Given the description of an element on the screen output the (x, y) to click on. 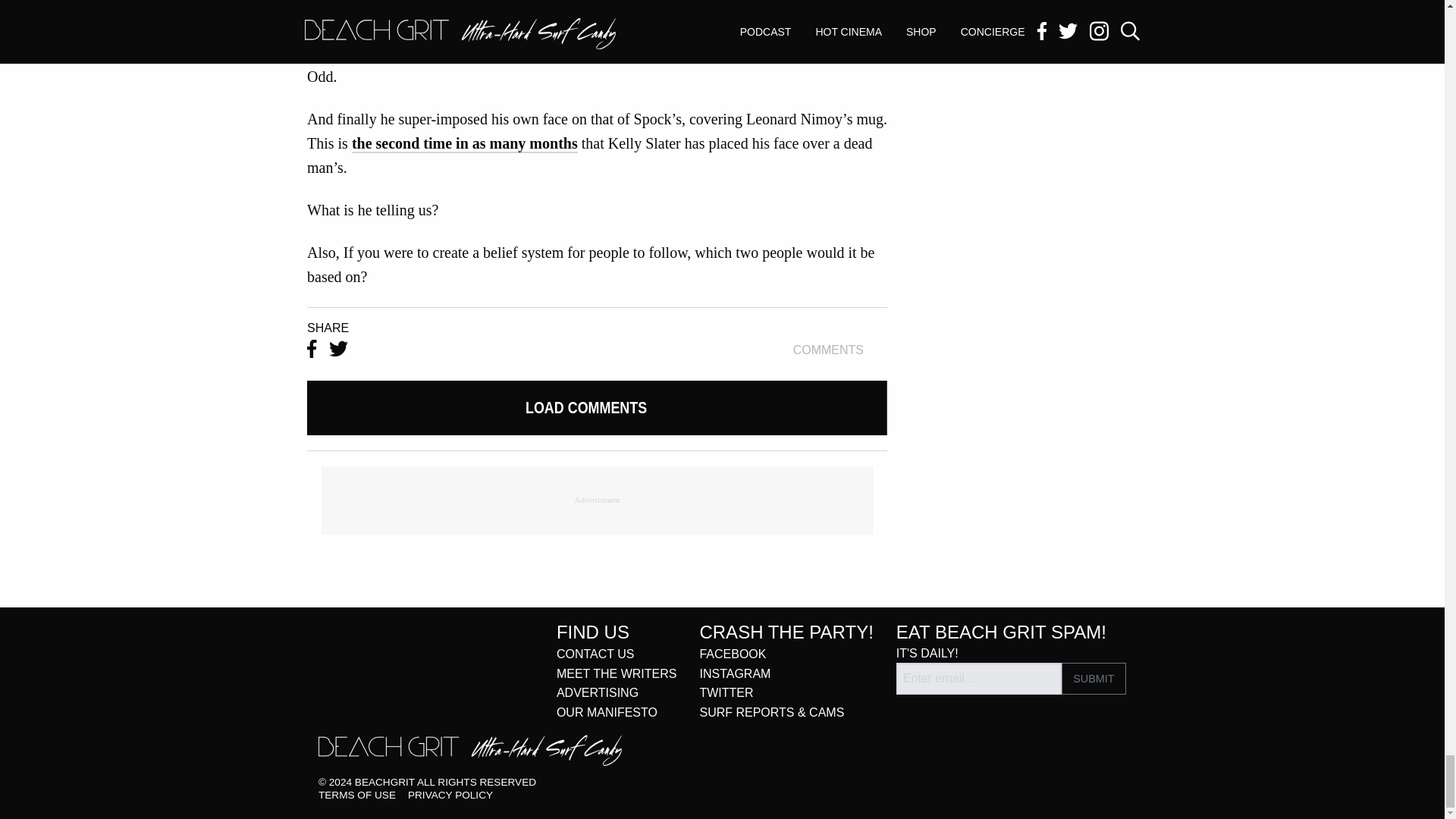
BG-LOGO (469, 750)
Submit (1093, 678)
